Given the description of an element on the screen output the (x, y) to click on. 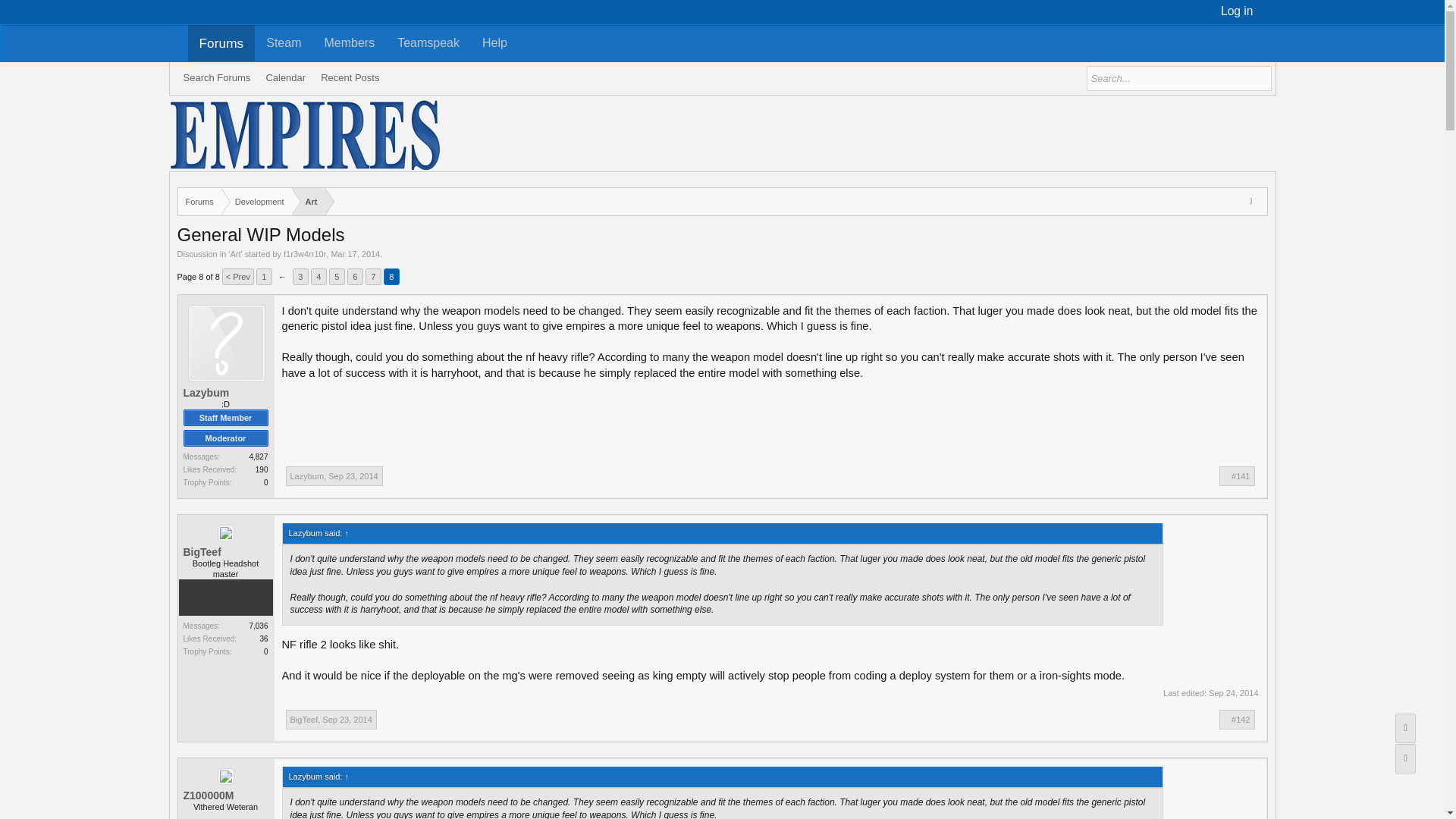
BigTeef (303, 718)
Sep 24, 2014 at 6:15 PM (1232, 692)
Mar 17, 2014 at 5:45 PM (355, 253)
7 (373, 276)
Sep 23, 2014 (346, 718)
Permalink (353, 475)
Art (235, 253)
4,827 (336, 276)
6 (257, 456)
